Given the description of an element on the screen output the (x, y) to click on. 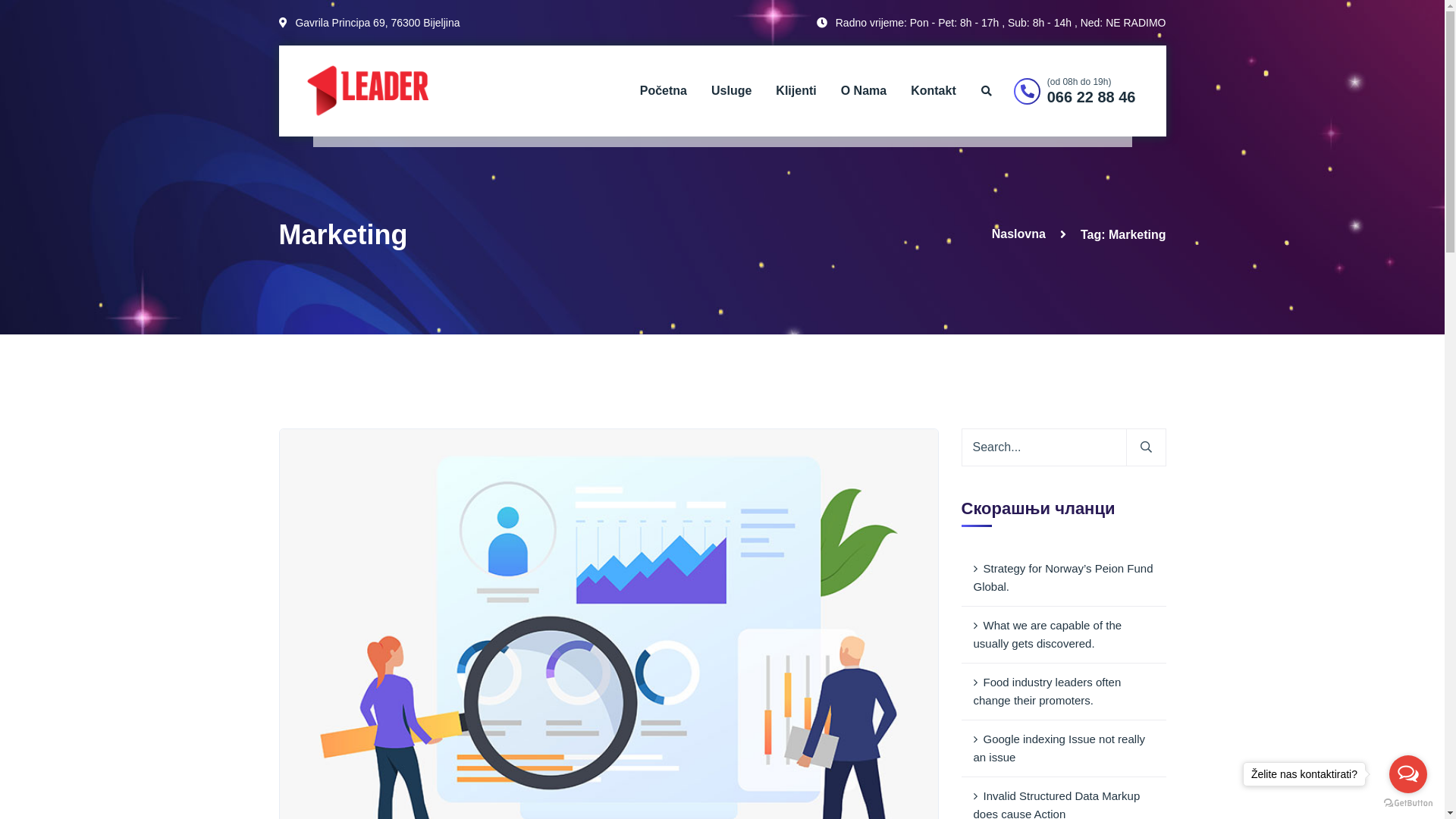
066 22 88 46 Element type: text (1091, 96)
What we are capable of the usually gets discovered. Element type: text (1063, 634)
Leader BiH Element type: hover (366, 88)
Naslovna Element type: text (1018, 233)
Google indexing Issue not really an issue Element type: text (1063, 748)
Kontakt Element type: text (933, 90)
Klijenti Element type: text (795, 90)
Usluge Element type: text (731, 90)
Food industry leaders often change their promoters. Element type: text (1063, 690)
O Nama Element type: text (863, 90)
